Given the description of an element on the screen output the (x, y) to click on. 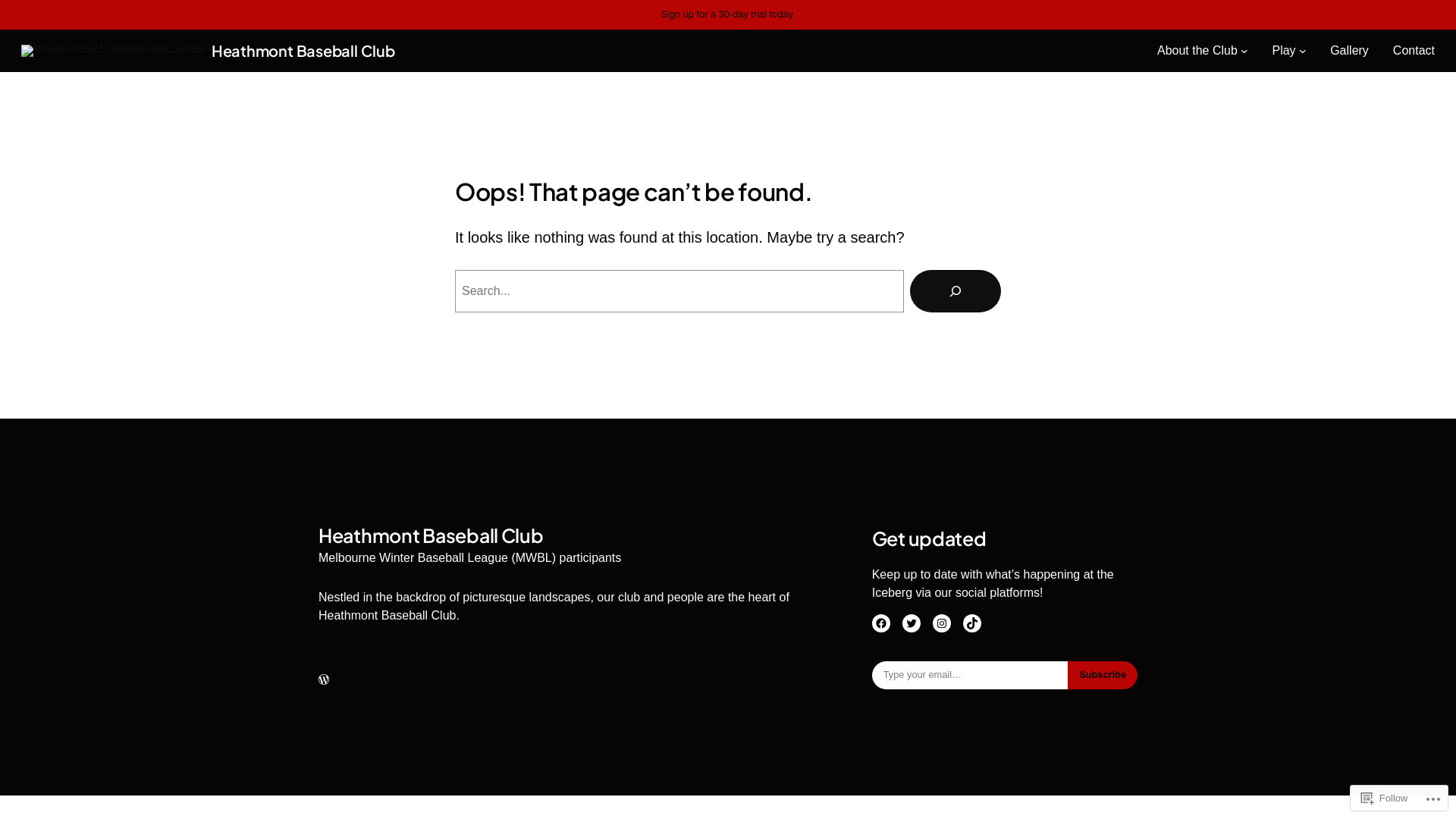
Follow Element type: text (1384, 797)
Subscribe Element type: text (1102, 675)
Heathmont Baseball Club Element type: text (430, 535)
About the Club Element type: text (1197, 50)
Create a website or blog at WordPress.com Element type: text (323, 679)
Gallery Element type: text (1349, 50)
Play Element type: text (1283, 50)
Contact Element type: text (1413, 50)
Heathmont Baseball Club Element type: text (303, 49)
